Given the description of an element on the screen output the (x, y) to click on. 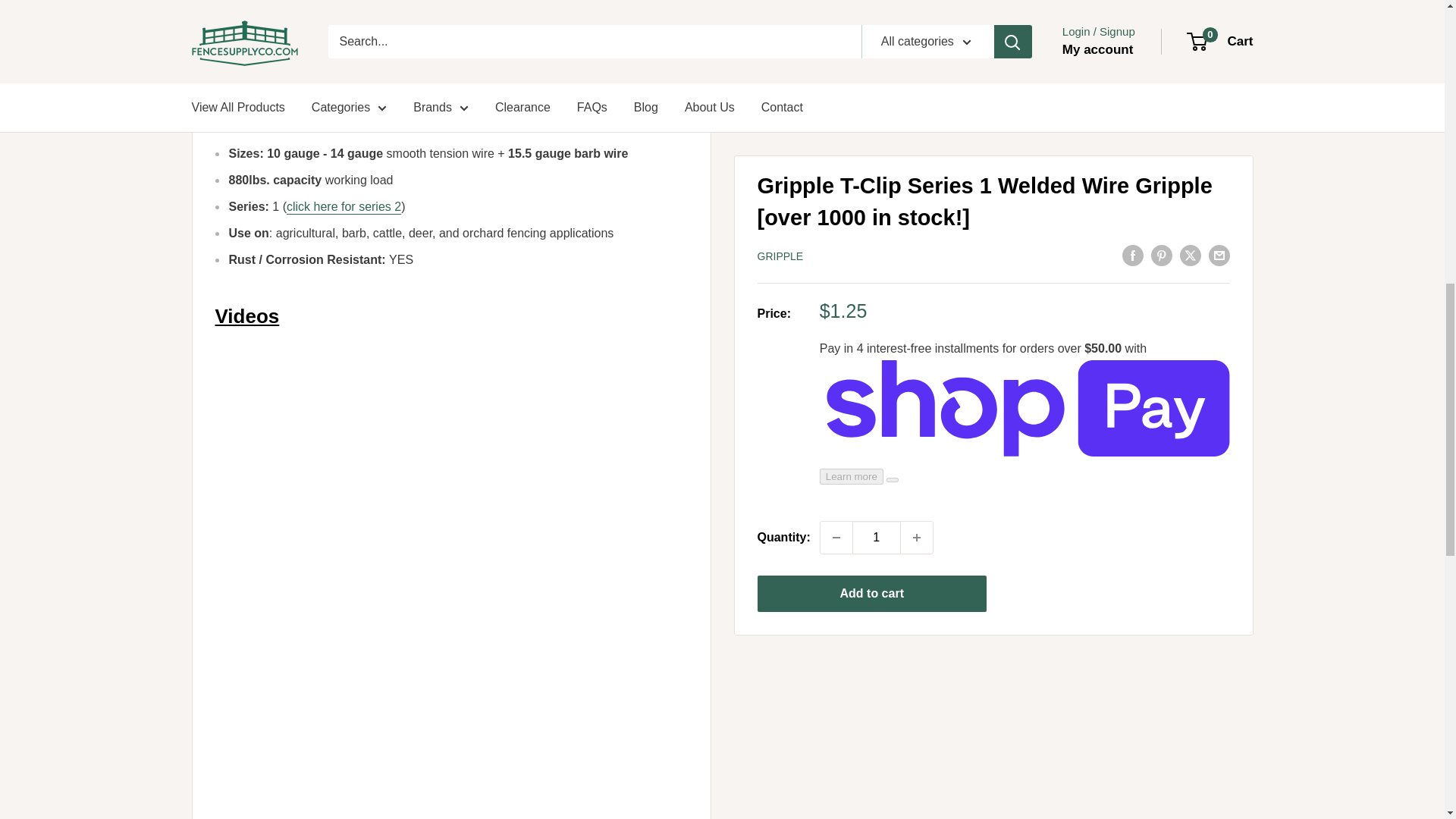
Gripple Series 2 T Clip (343, 205)
